Given the description of an element on the screen output the (x, y) to click on. 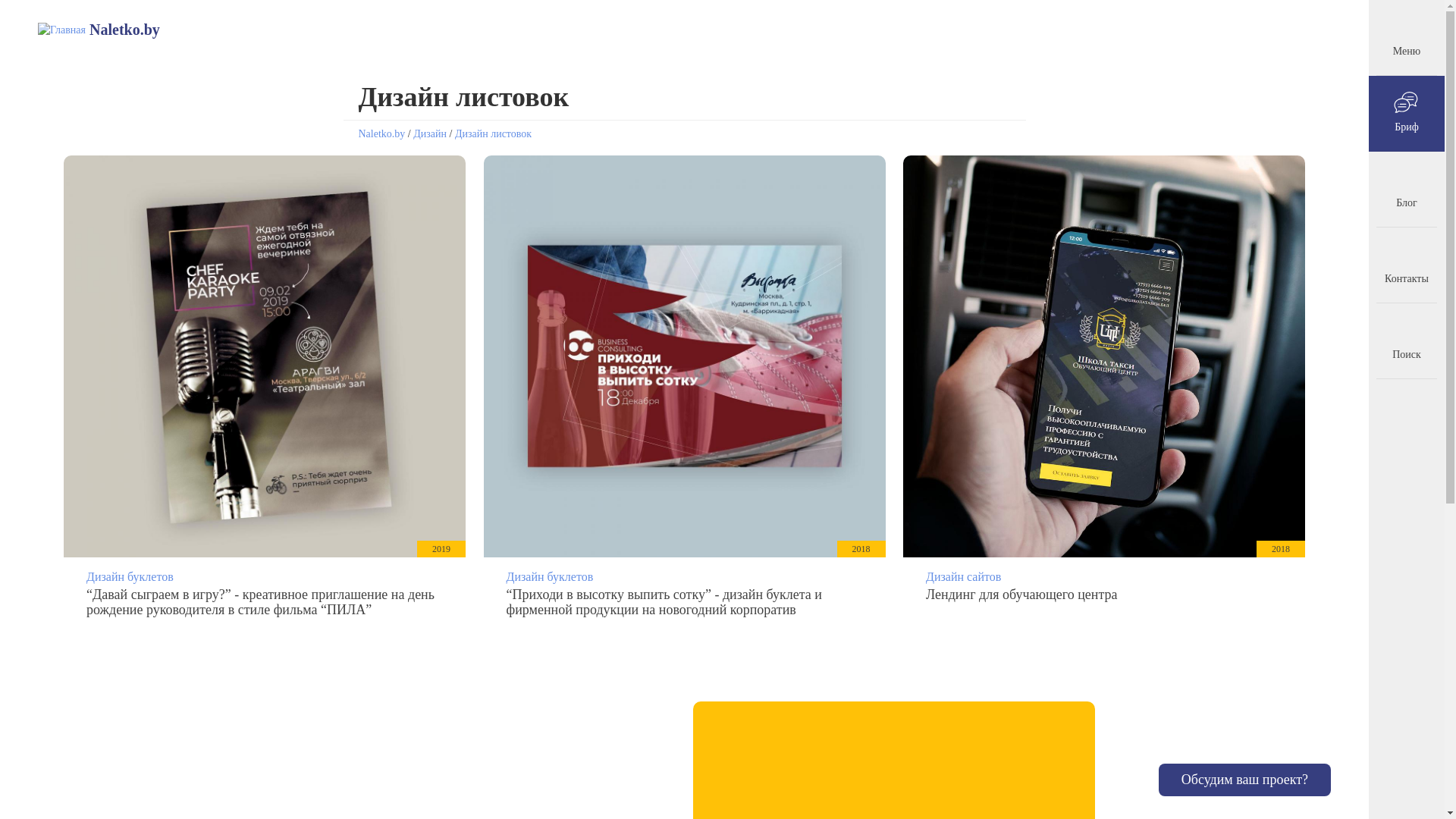
Naletko.by Element type: text (380, 133)
Naletko.by Element type: text (124, 29)
